Given the description of an element on the screen output the (x, y) to click on. 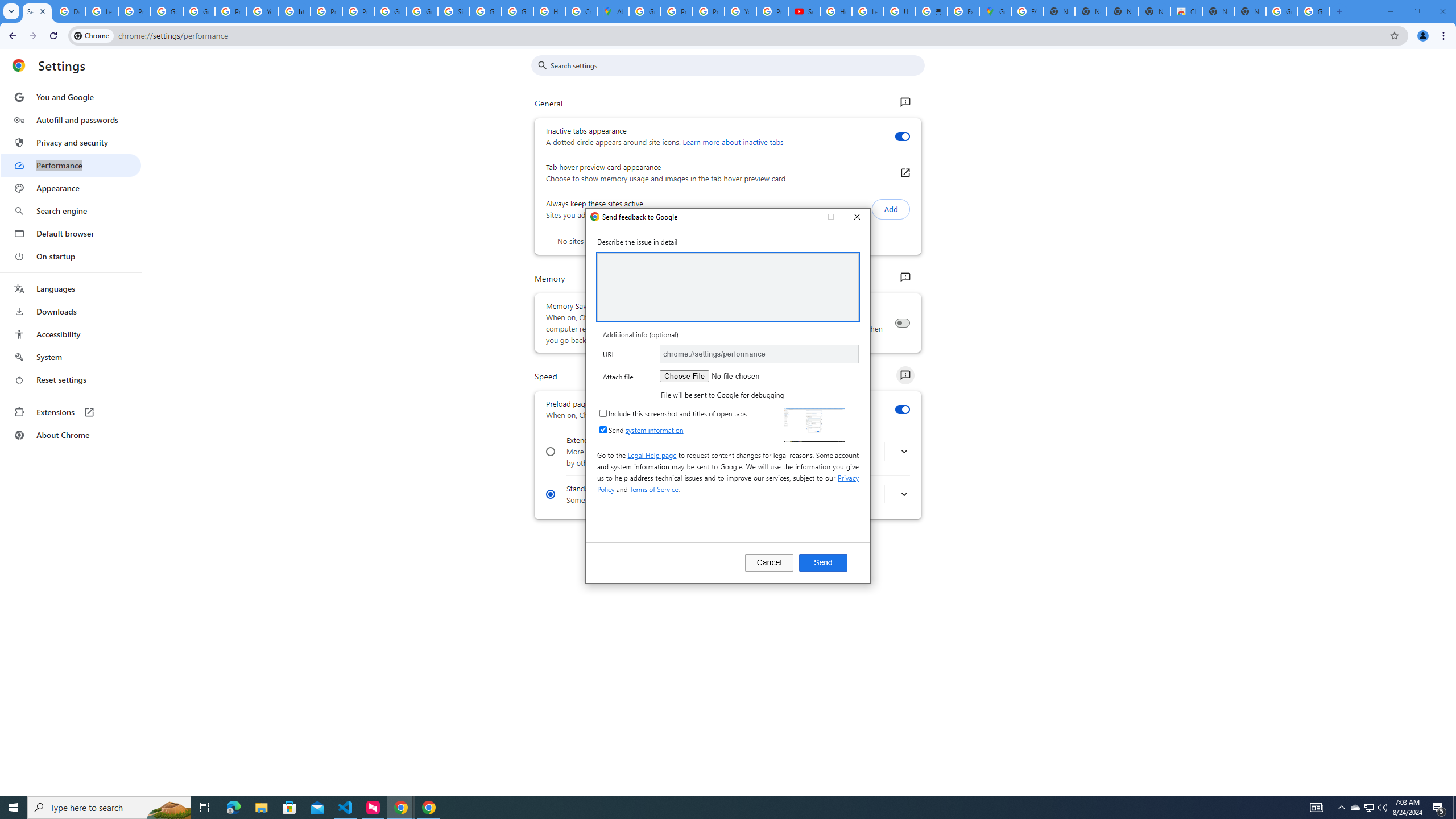
Subscriptions - YouTube (804, 11)
Microsoft Edge (233, 807)
Visual Studio Code - 1 running window (345, 807)
 More info about turning on extended preloading (903, 451)
Google Images (1313, 11)
AutomationID: menu (71, 265)
Downloads (70, 311)
Search settings (735, 65)
Autofill and passwords (70, 119)
Delete photos & videos - Computer - Google Photos Help (69, 11)
File Explorer (261, 807)
About Chrome (70, 434)
General (904, 102)
Legal Help page (652, 454)
Screenshot of programs that are currently on the screen (813, 424)
